Given the description of an element on the screen output the (x, y) to click on. 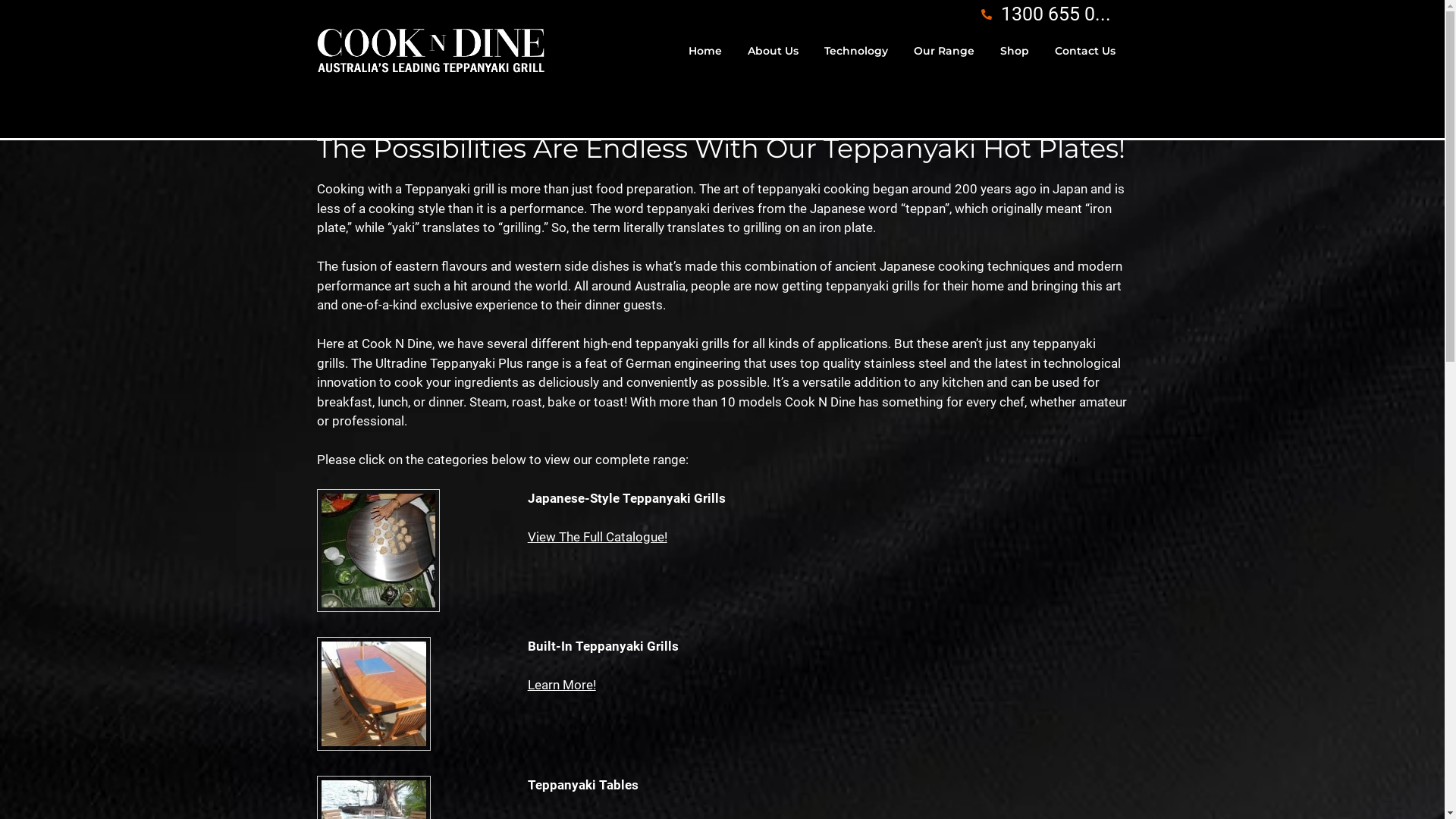
Learn More! Element type: text (561, 684)
1300 655 0... Element type: text (1044, 14)
Contact Us Element type: text (1084, 50)
View The Full Catalogue! Element type: text (597, 536)
0-CND-MO-51-cooktopAUS559-Boat5x7 Element type: hover (373, 693)
Our Range Element type: text (943, 50)
About Us Element type: text (772, 50)
Home Element type: text (704, 50)
Shop Element type: text (1014, 50)
Technology Element type: text (855, 50)
